Given the description of an element on the screen output the (x, y) to click on. 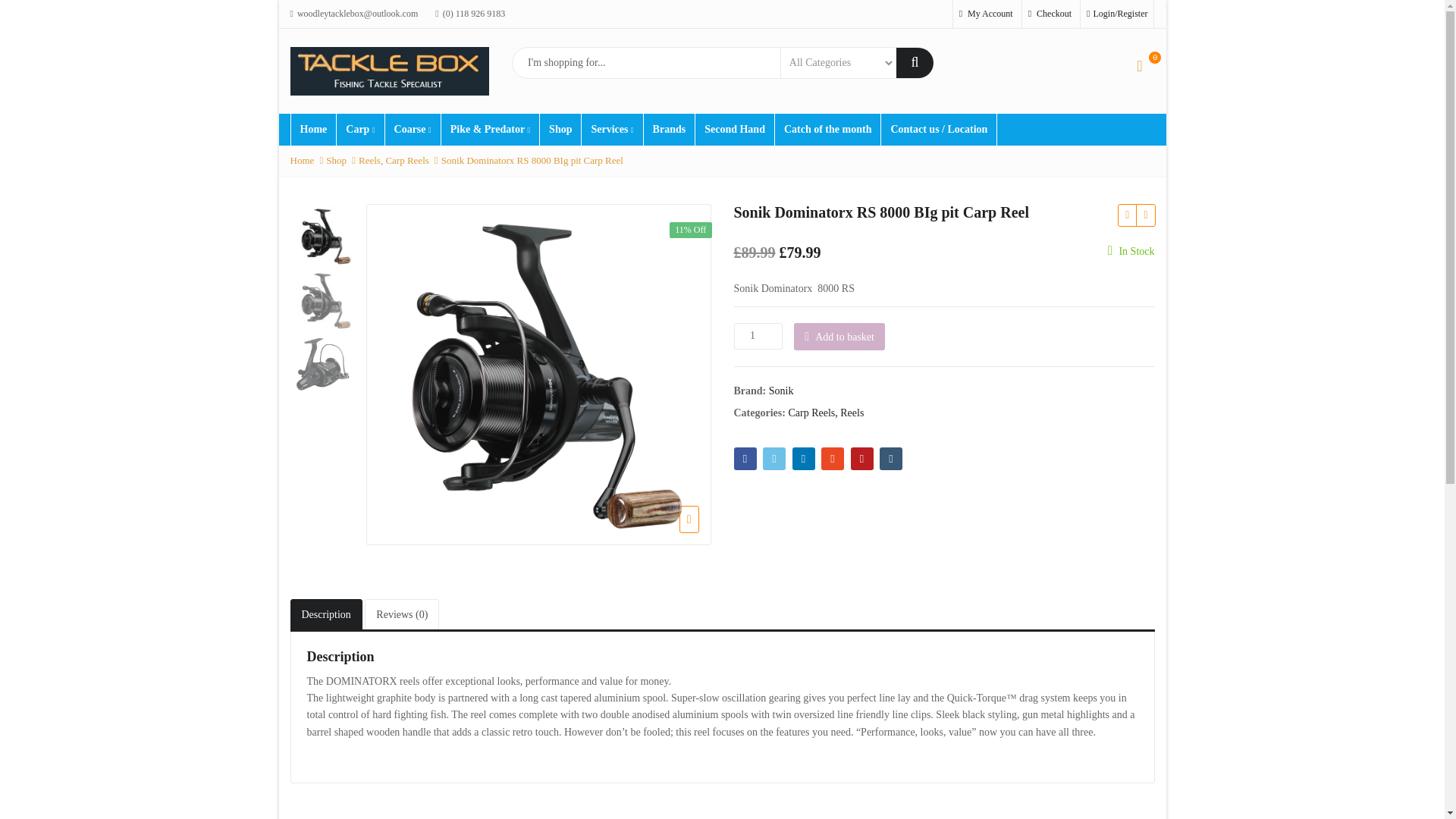
Share on Pinterest (861, 458)
1 (758, 335)
Share on Facebook (745, 458)
dominator-x-bail-arm-front-left-front-angle (323, 235)
Dominator-X-reel-angle-2 (320, 363)
Share on Twitter (774, 458)
Share on Tumblr (890, 458)
dominator-x-bail-arm-front-left-front-angle (323, 300)
Share on LinkedIn (802, 458)
Qty (758, 335)
